Given the description of an element on the screen output the (x, y) to click on. 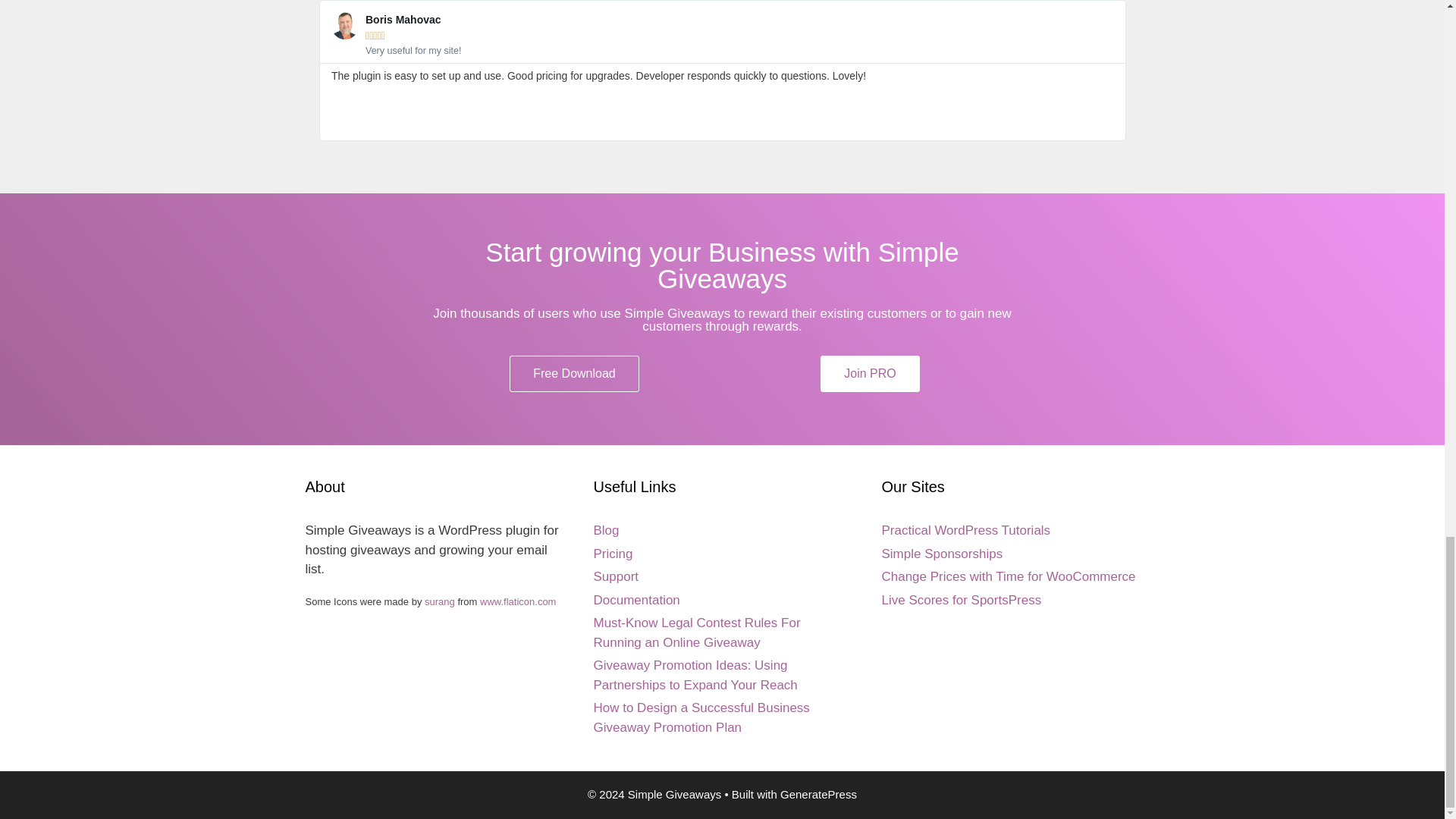
Practical WordPress Tutorials (964, 530)
Flaticon (518, 601)
Documentation (635, 599)
Live Scores for SportsPress (960, 599)
Support (615, 576)
How to Design a Successful Business Giveaway Promotion Plan (700, 717)
Change Prices with Time for WooCommerce (1007, 576)
www.flaticon.com (518, 601)
Blog (605, 530)
surang (439, 601)
